Given the description of an element on the screen output the (x, y) to click on. 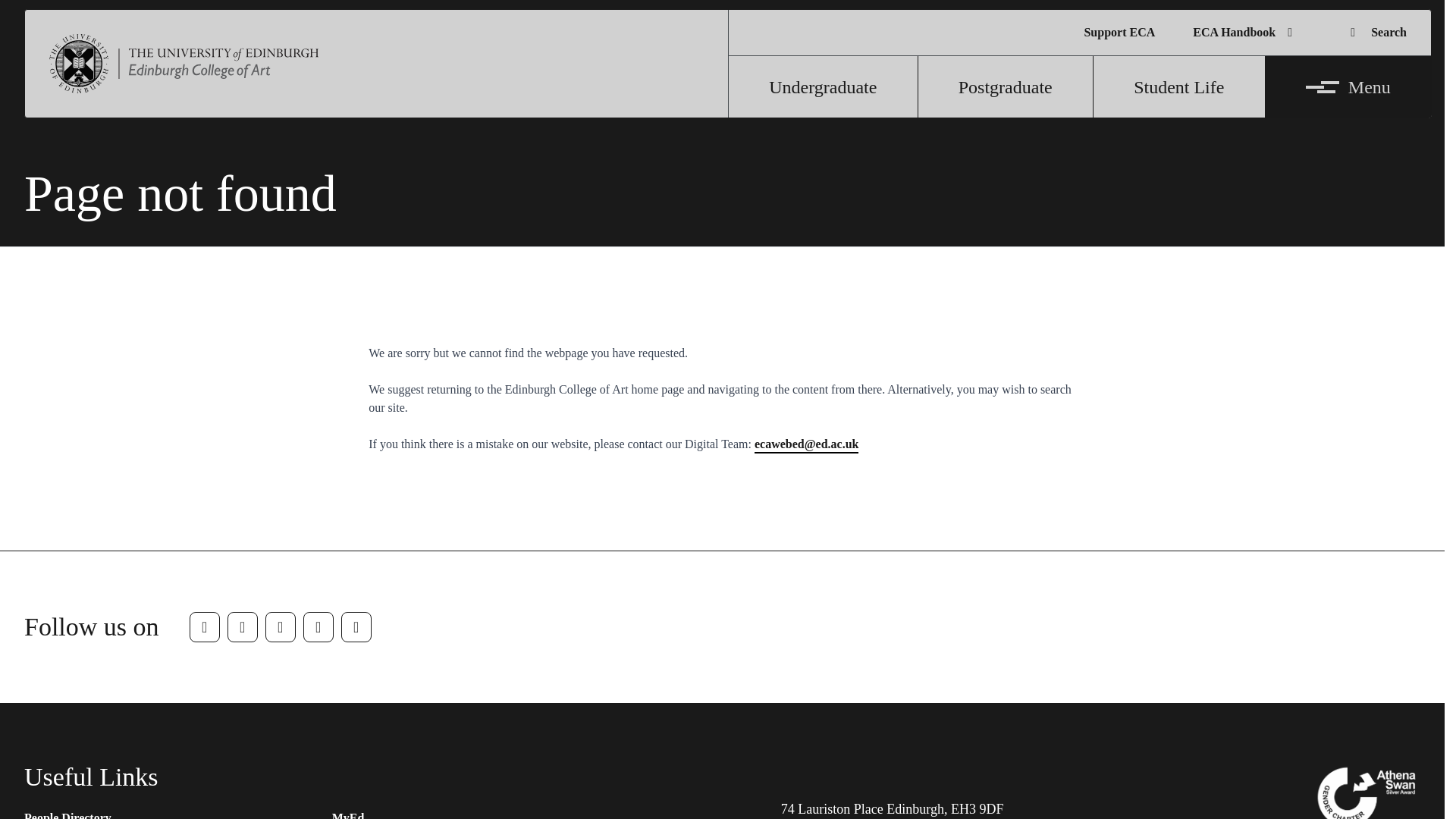
ECA Handbook (1246, 32)
Search (1376, 32)
Support ECA (1118, 32)
Student Life (1179, 86)
Postgraduate (1005, 86)
Undergraduate (823, 86)
Menu (1348, 86)
